Given the description of an element on the screen output the (x, y) to click on. 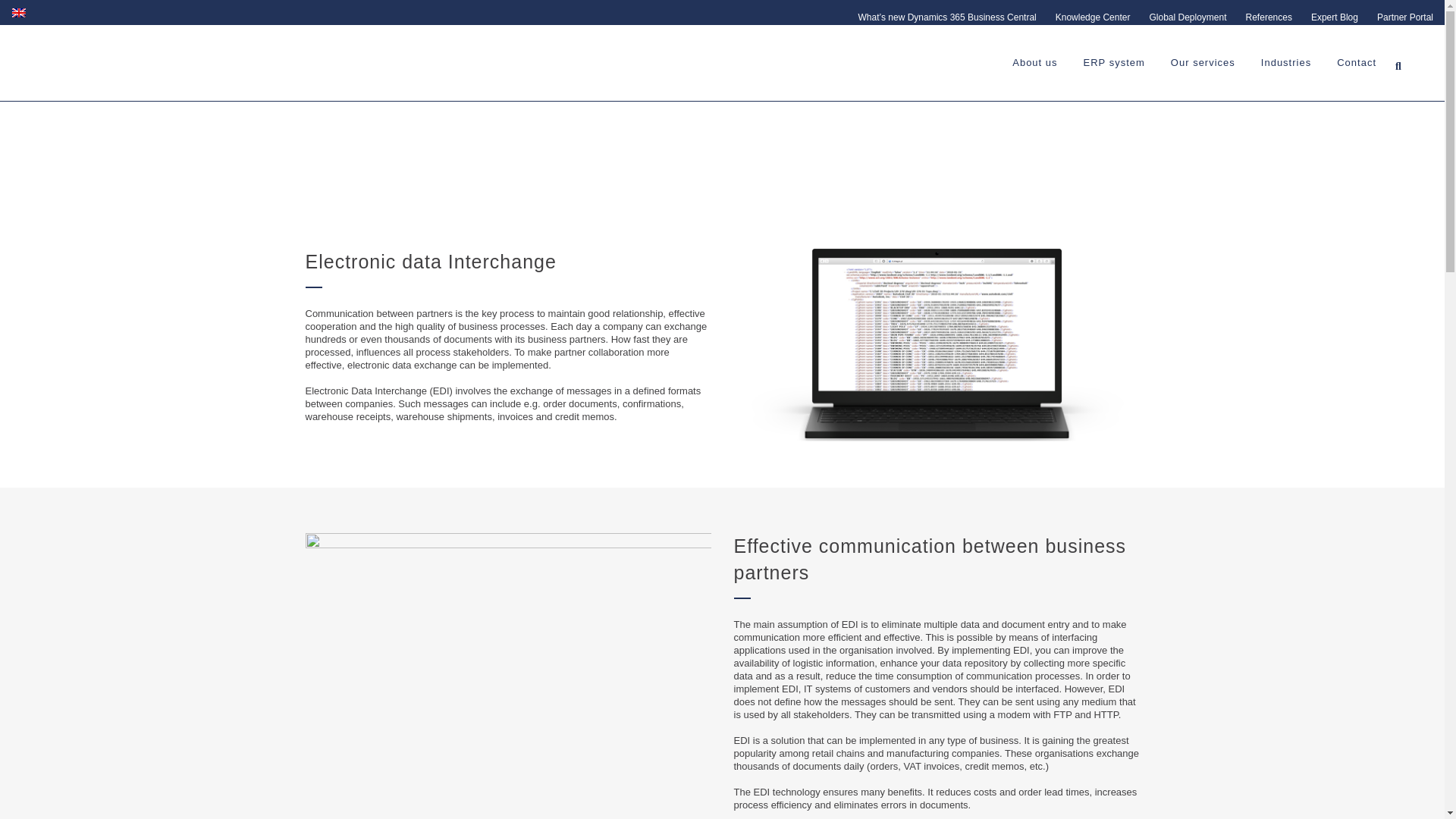
Elektroniczna wymiana danych EDI (507, 668)
Elektroniczna wymiana danych EDI (936, 345)
Our services (1202, 62)
Knowledge Center (1083, 17)
Expert Blog (1325, 17)
English (18, 12)
Industries (1285, 62)
About us (1034, 62)
Global Deployment (1177, 17)
Partner Portal (1395, 17)
